Given the description of an element on the screen output the (x, y) to click on. 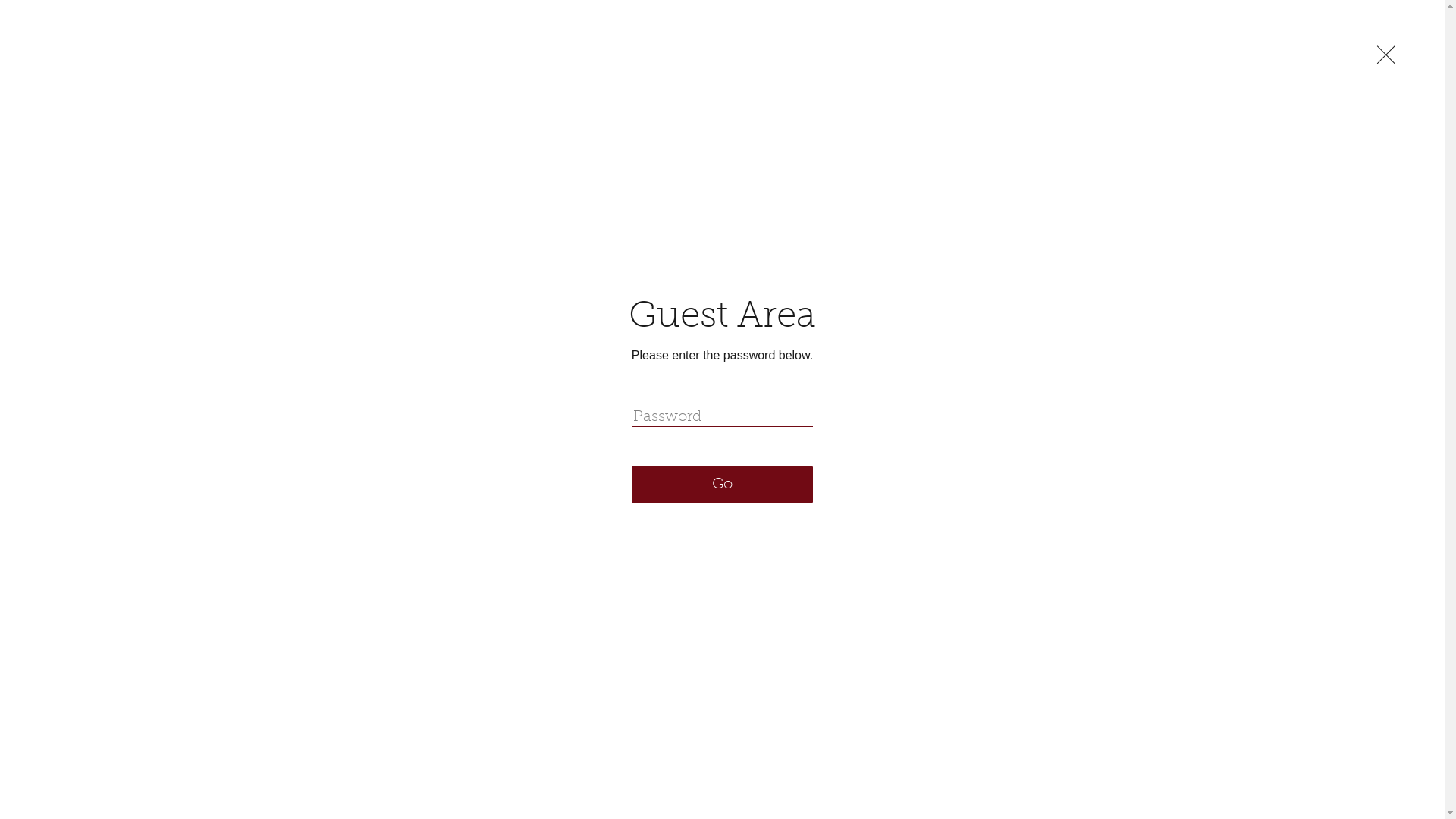
Go Element type: text (721, 484)
